Given the description of an element on the screen output the (x, y) to click on. 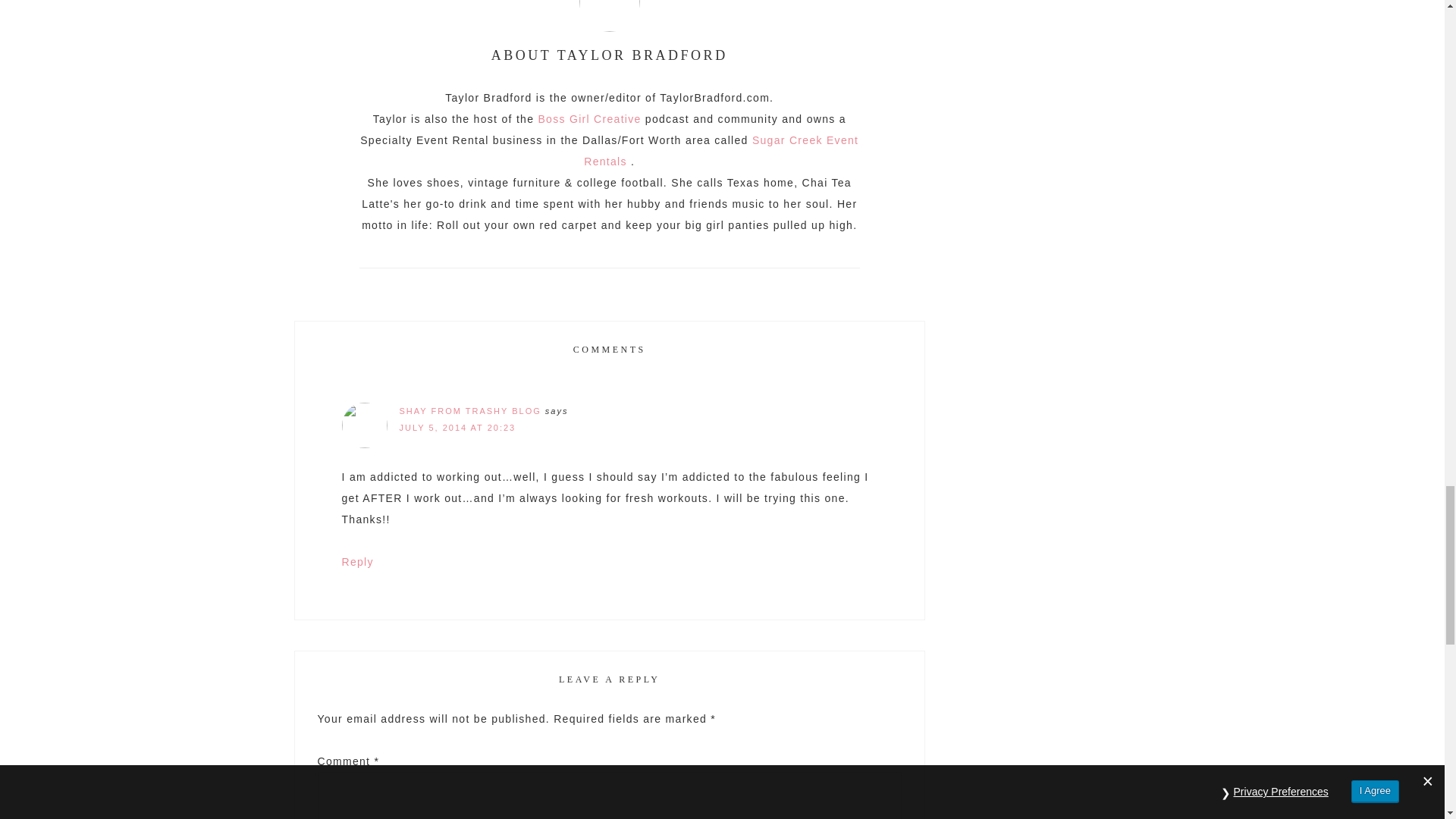
JULY 5, 2014 AT 20:23 (456, 427)
Reply (356, 562)
Boss Girl Creative (588, 119)
Sugar Creek Event Rentals (721, 150)
SHAY FROM TRASHY BLOG (469, 410)
